Given the description of an element on the screen output the (x, y) to click on. 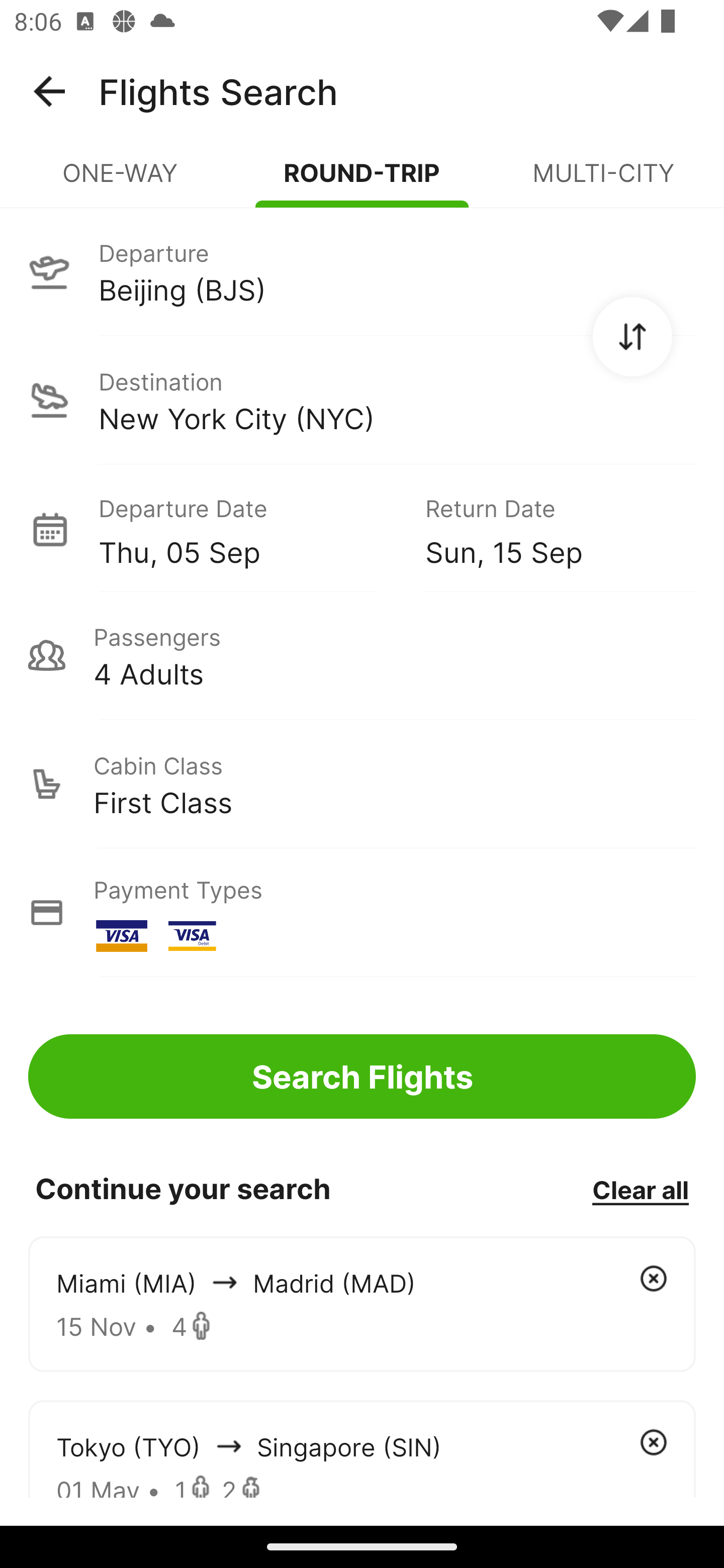
ONE-WAY (120, 180)
ROUND-TRIP (361, 180)
MULTI-CITY (603, 180)
Departure Beijing (BJS) (362, 270)
Destination New York City (NYC) (362, 400)
Departure Date Thu, 05 Sep (247, 528)
Return Date Sun, 15 Sep (546, 528)
Passengers 4 Adults (362, 655)
Cabin Class First Class (362, 783)
Payment Types (362, 912)
Search Flights (361, 1075)
Clear all (640, 1189)
Miami (MIA)  arrowIcon  Madrid (MAD) 15 Nov •  4  (361, 1303)
